Given the description of an element on the screen output the (x, y) to click on. 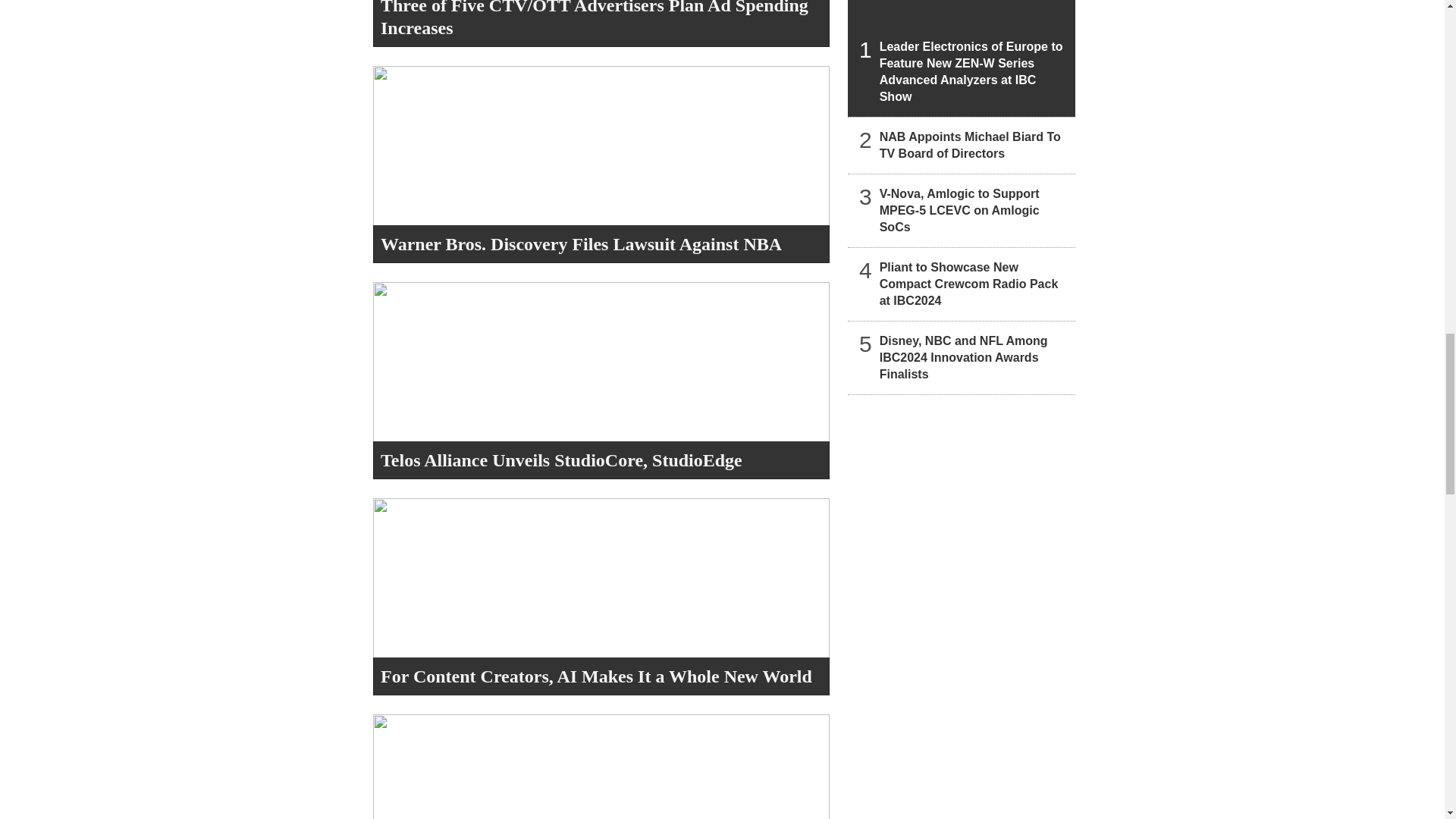
Warner Bros. Discovery Files Lawsuit Against NBA (580, 243)
Telos Alliance Unveils StudioCore, StudioEdge (561, 460)
